Given the description of an element on the screen output the (x, y) to click on. 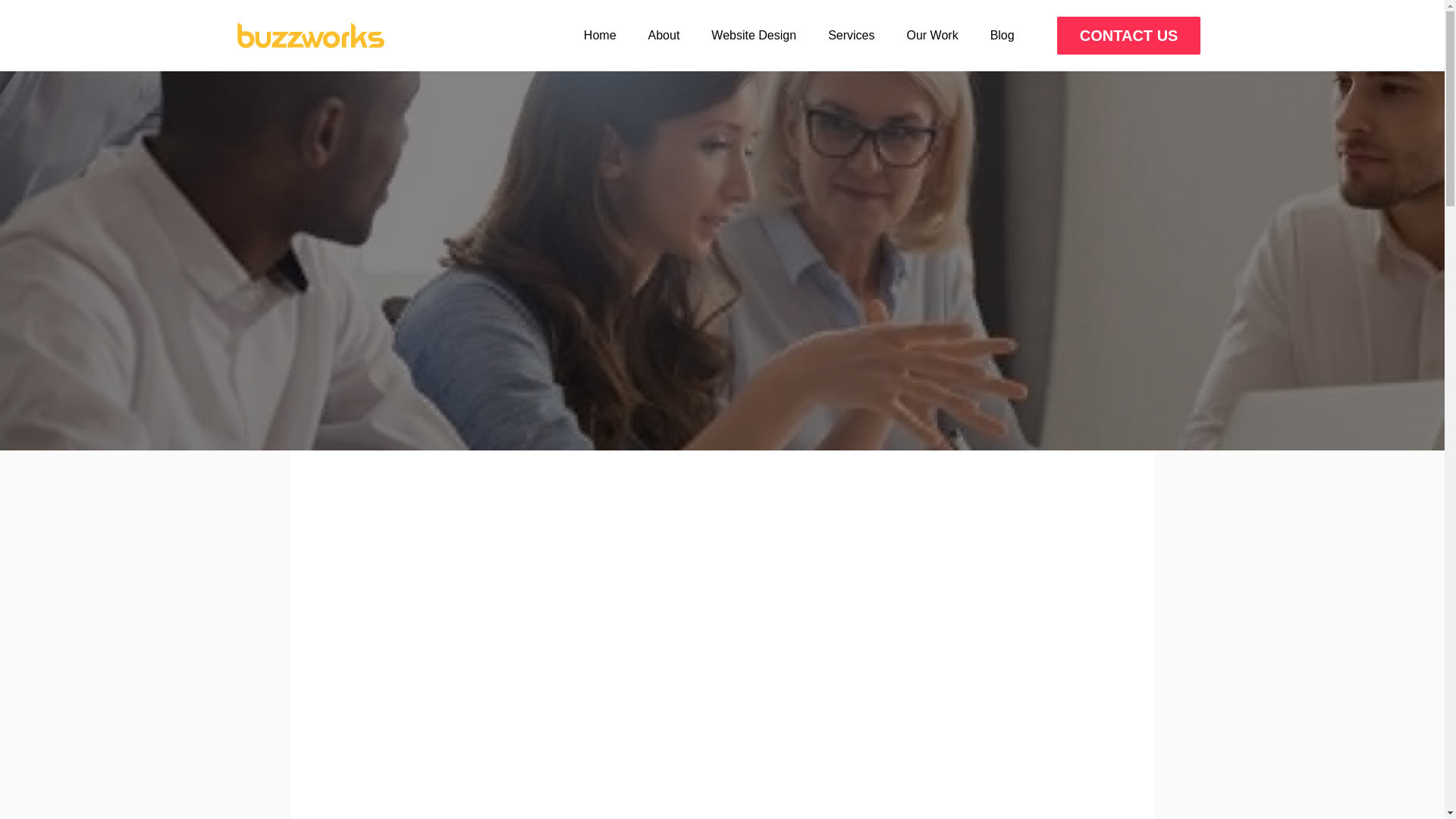
CONTACT US (1129, 35)
Our Work (931, 35)
Home (599, 35)
Website Design (753, 35)
Services (851, 35)
About (663, 35)
